Given the description of an element on the screen output the (x, y) to click on. 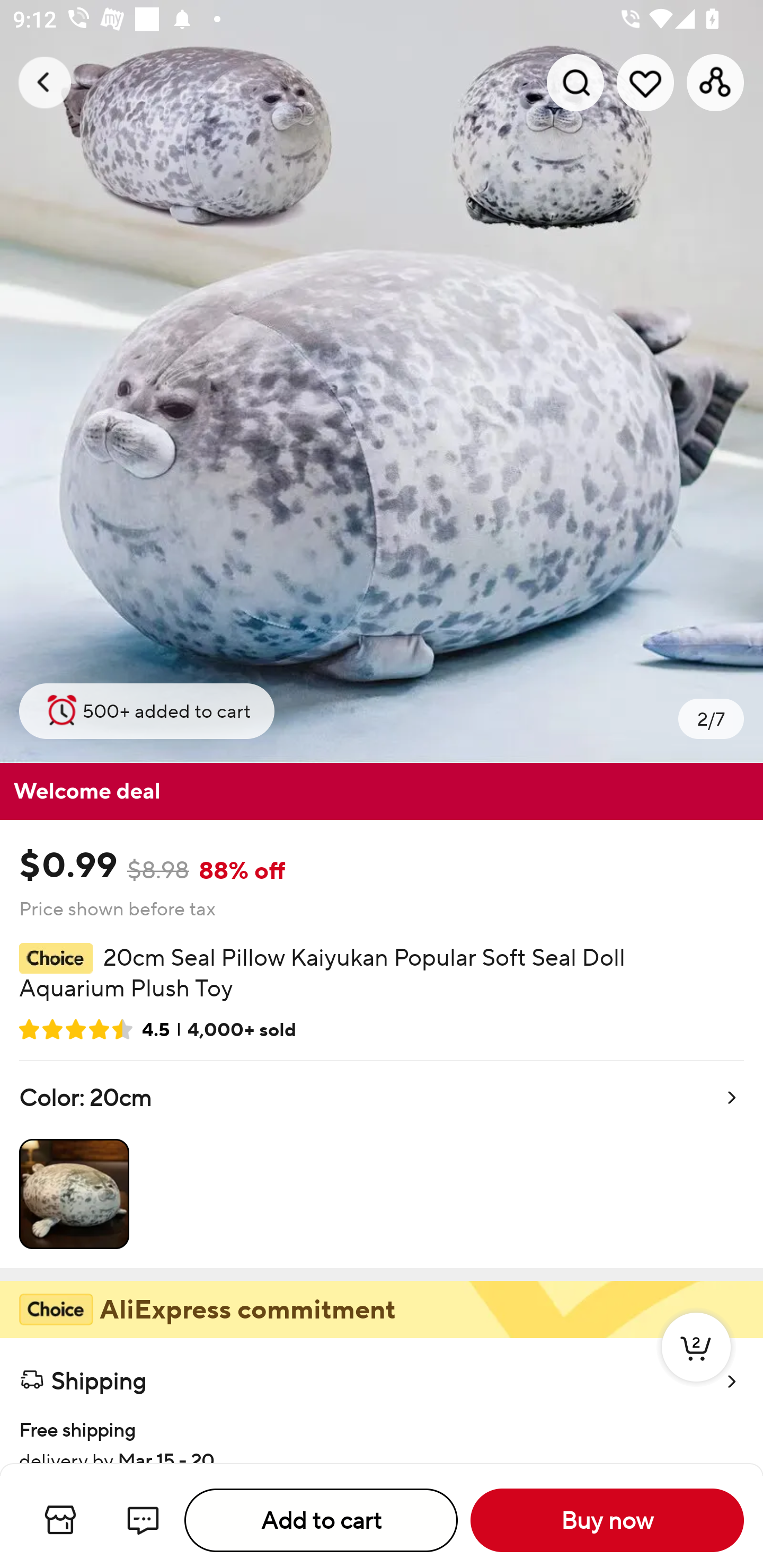
Navigate up (44, 82)
Color: 20cm  (381, 1164)
2 (695, 1366)
Shipping  Free shipping  delivery by Mar 15 - 20  (381, 1399)
Free shipping  delivery by Mar 15 - 20  (381, 1431)
Add to cart (320, 1520)
Buy now (606, 1520)
